Given the description of an element on the screen output the (x, y) to click on. 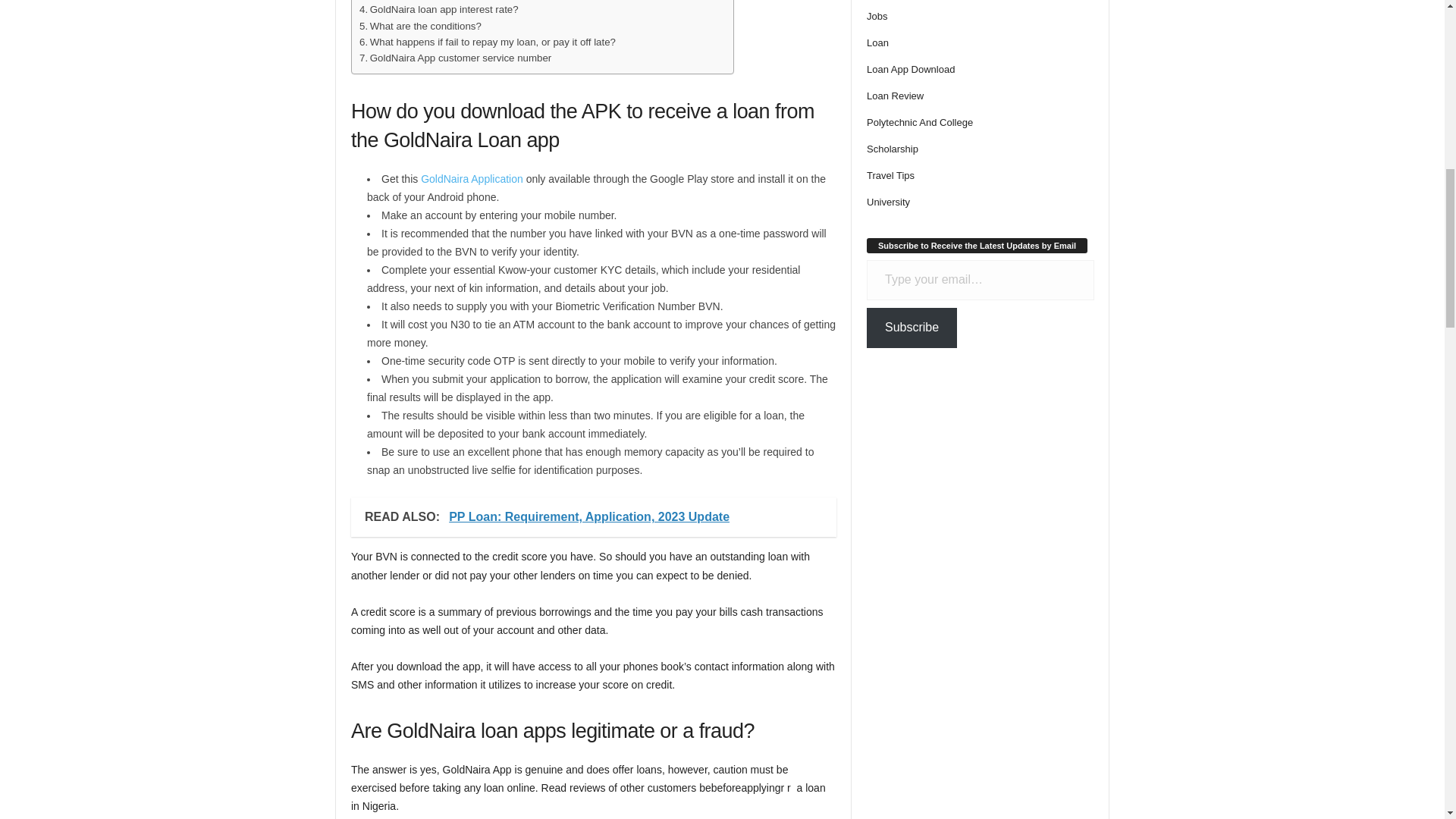
GoldNaira loan app interest rate? (438, 9)
What happens if fail to repay my loan, or pay it off late? (487, 41)
What are the conditions? (420, 26)
GoldNaira App customer service number (455, 57)
